Given the description of an element on the screen output the (x, y) to click on. 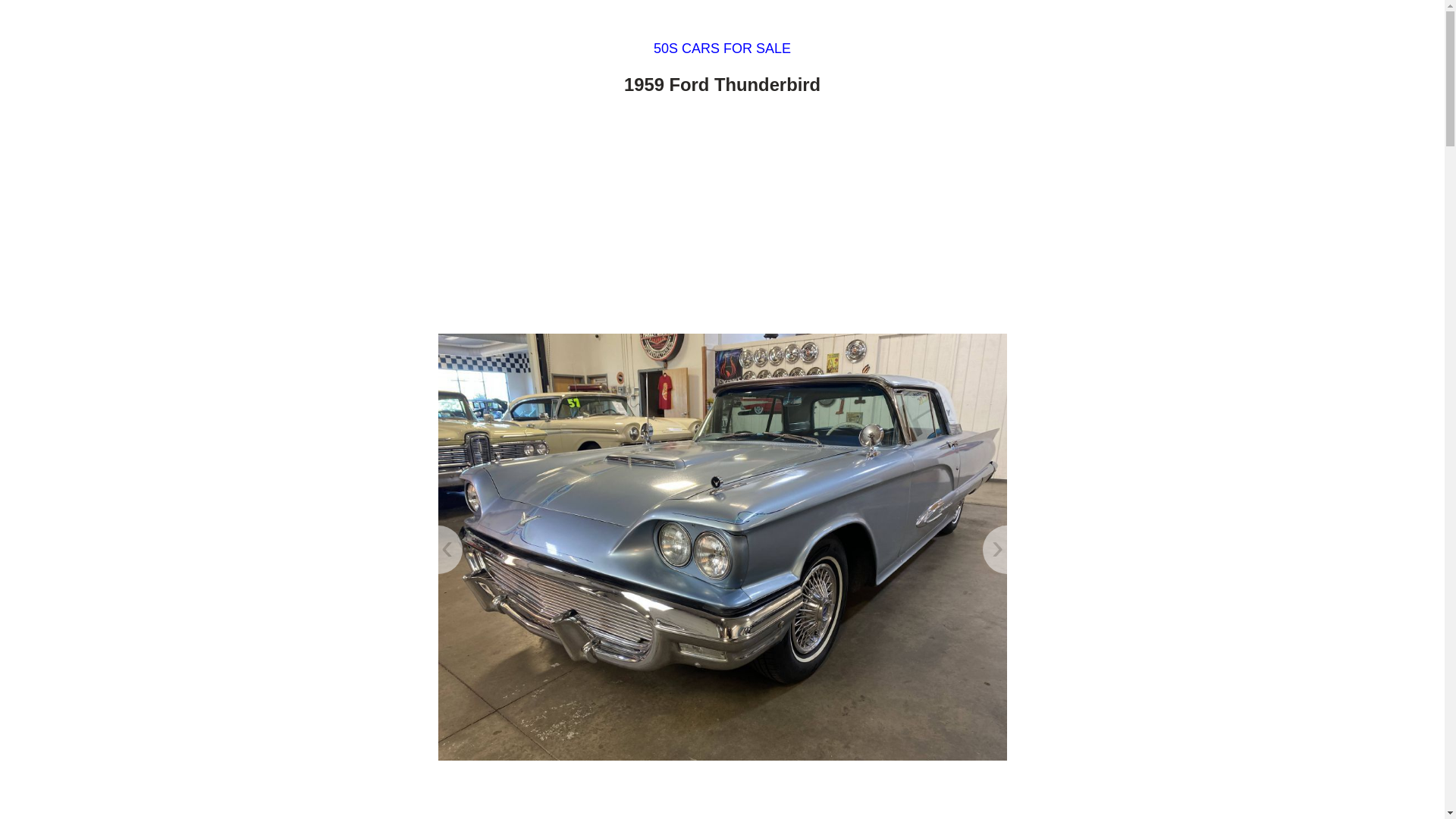
Advertisement (722, 796)
50S CARS FOR SALE (721, 48)
Advertisement (722, 218)
